Given the description of an element on the screen output the (x, y) to click on. 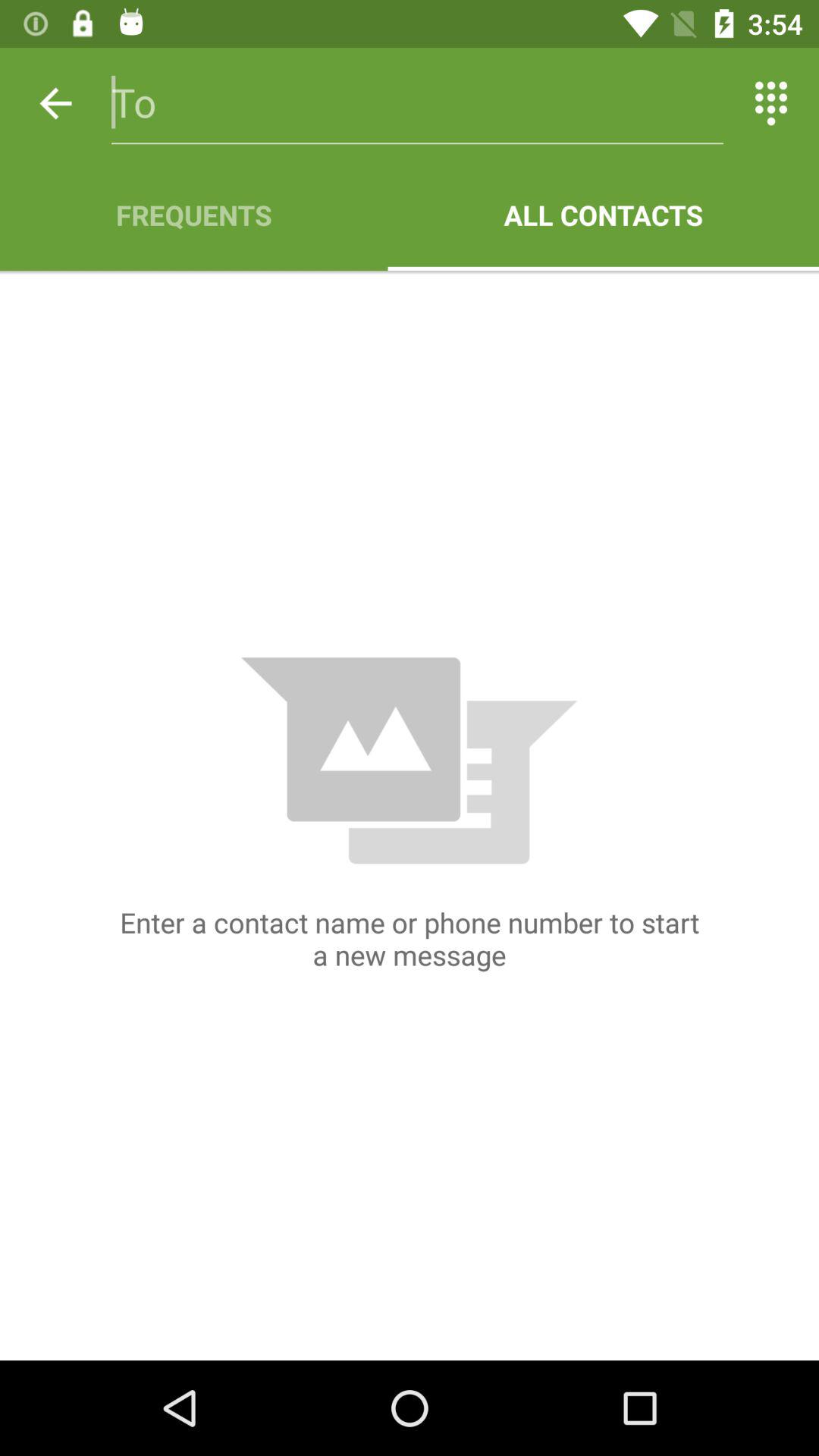
swipe until all contacts icon (603, 214)
